Given the description of an element on the screen output the (x, y) to click on. 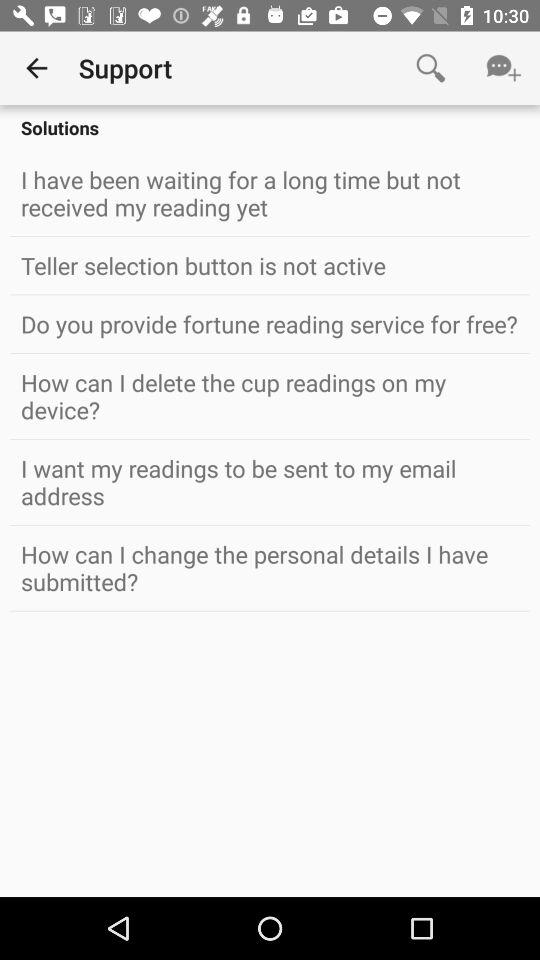
launch the item next to support (36, 68)
